Given the description of an element on the screen output the (x, y) to click on. 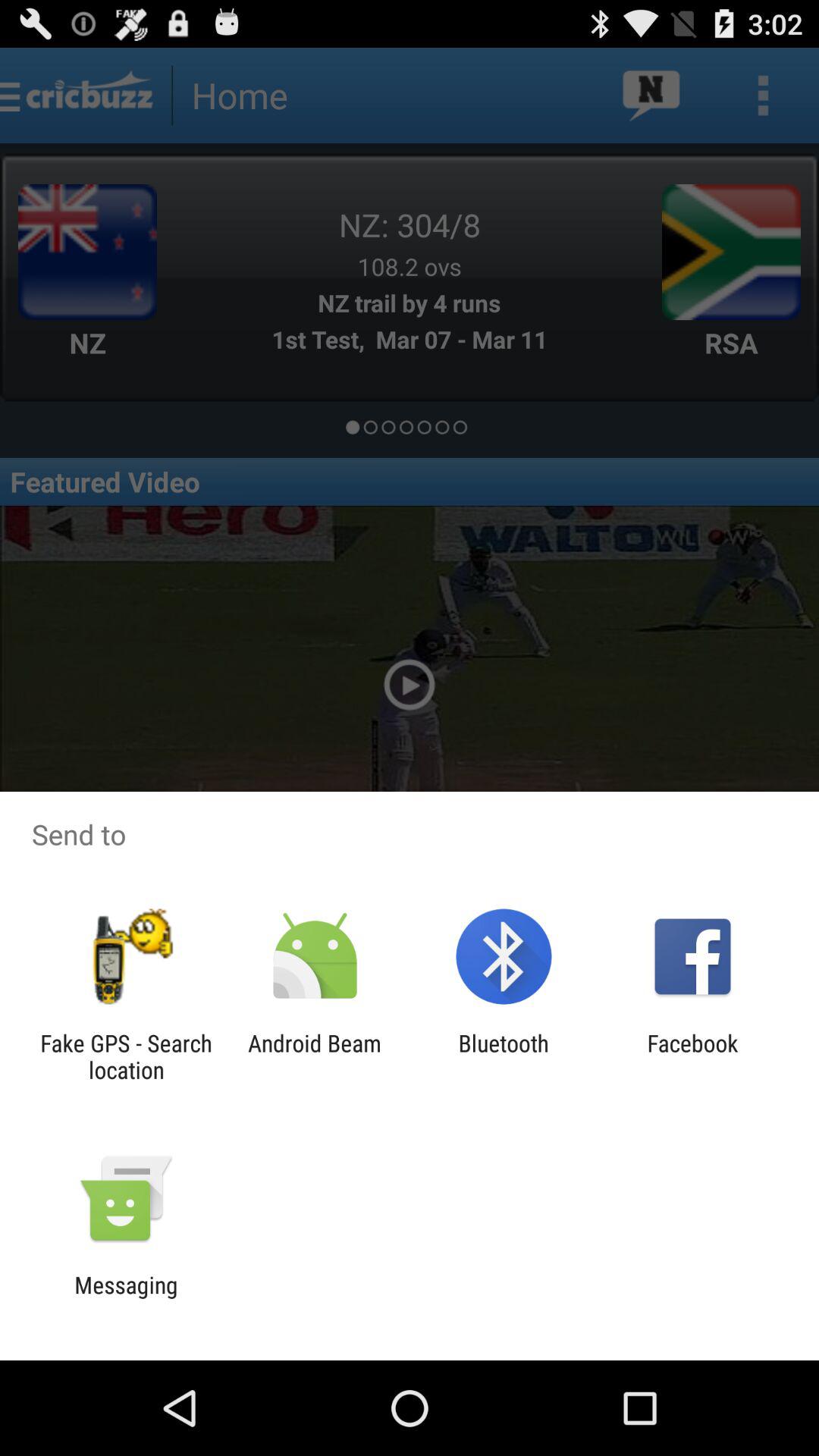
launch the facebook (692, 1056)
